Given the description of an element on the screen output the (x, y) to click on. 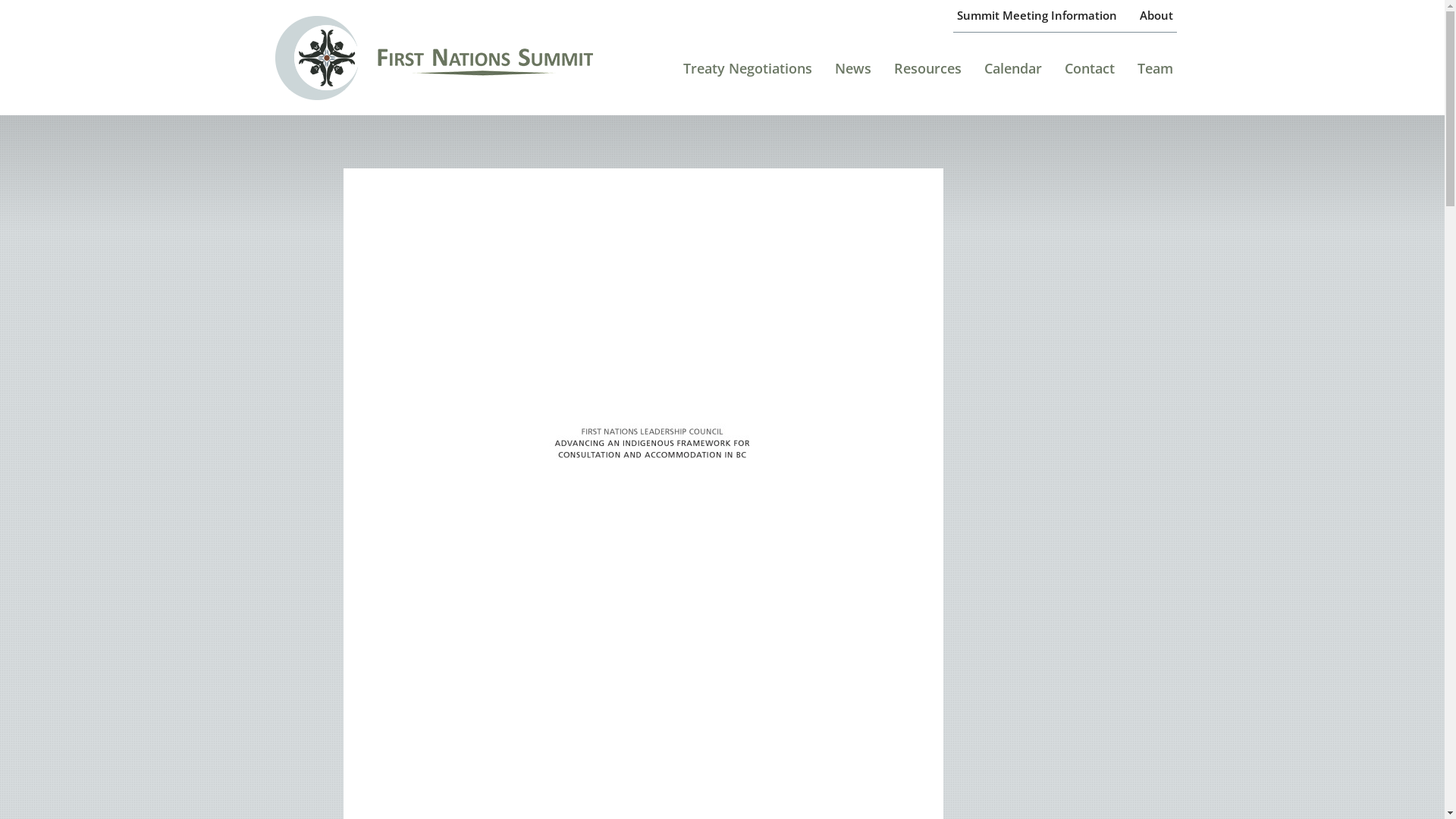
Contact Element type: text (1089, 73)
Treaty Negotiations Element type: text (747, 73)
Resources Element type: text (927, 73)
News Element type: text (853, 73)
Summit Meeting Information Element type: text (1036, 15)
First Nations Summit Element type: hover (456, 56)
About Element type: text (1155, 15)
Team Element type: text (1154, 73)
Calendar Element type: text (1012, 73)
